Given the description of an element on the screen output the (x, y) to click on. 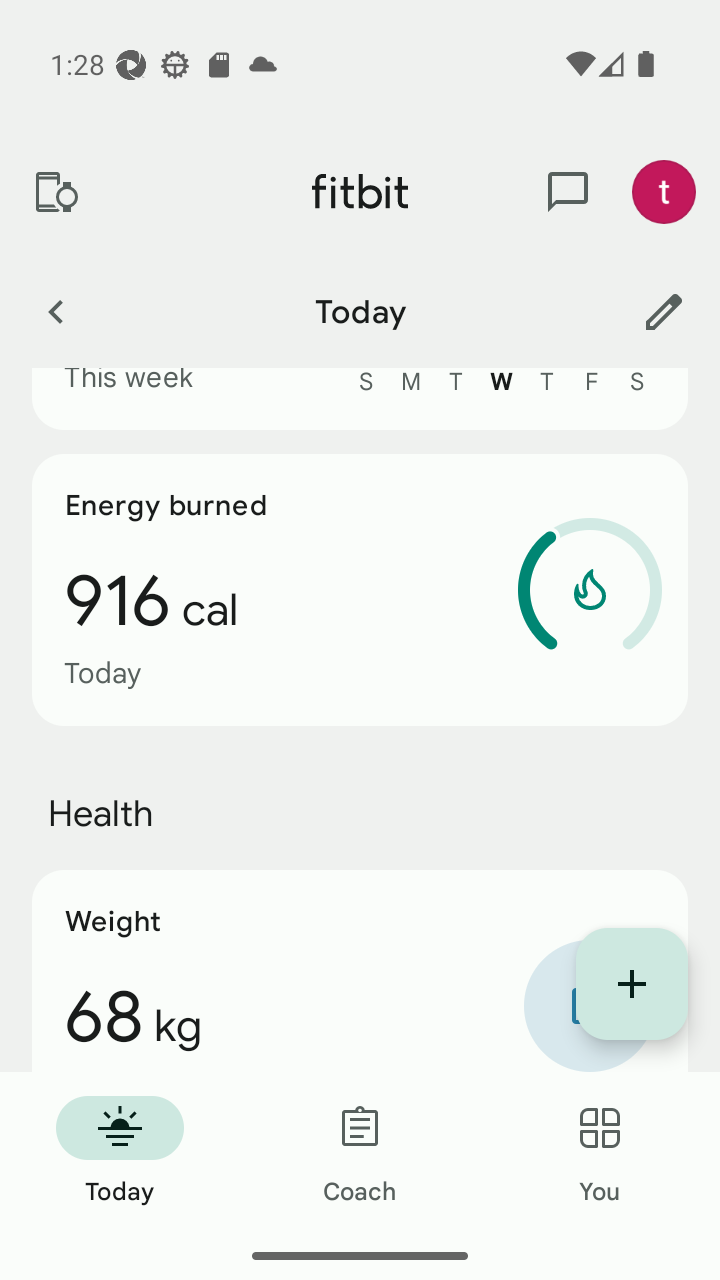
Devices and apps (55, 191)
messages and notifications (567, 191)
Previous Day (55, 311)
Customize (664, 311)
Energy burned 916 cal Today (359, 589)
Weight 68 kg Today Monitor weight scale icon. (359, 971)
Display list of quick log entries (632, 983)
Coach (359, 1151)
You (600, 1151)
